Given the description of an element on the screen output the (x, y) to click on. 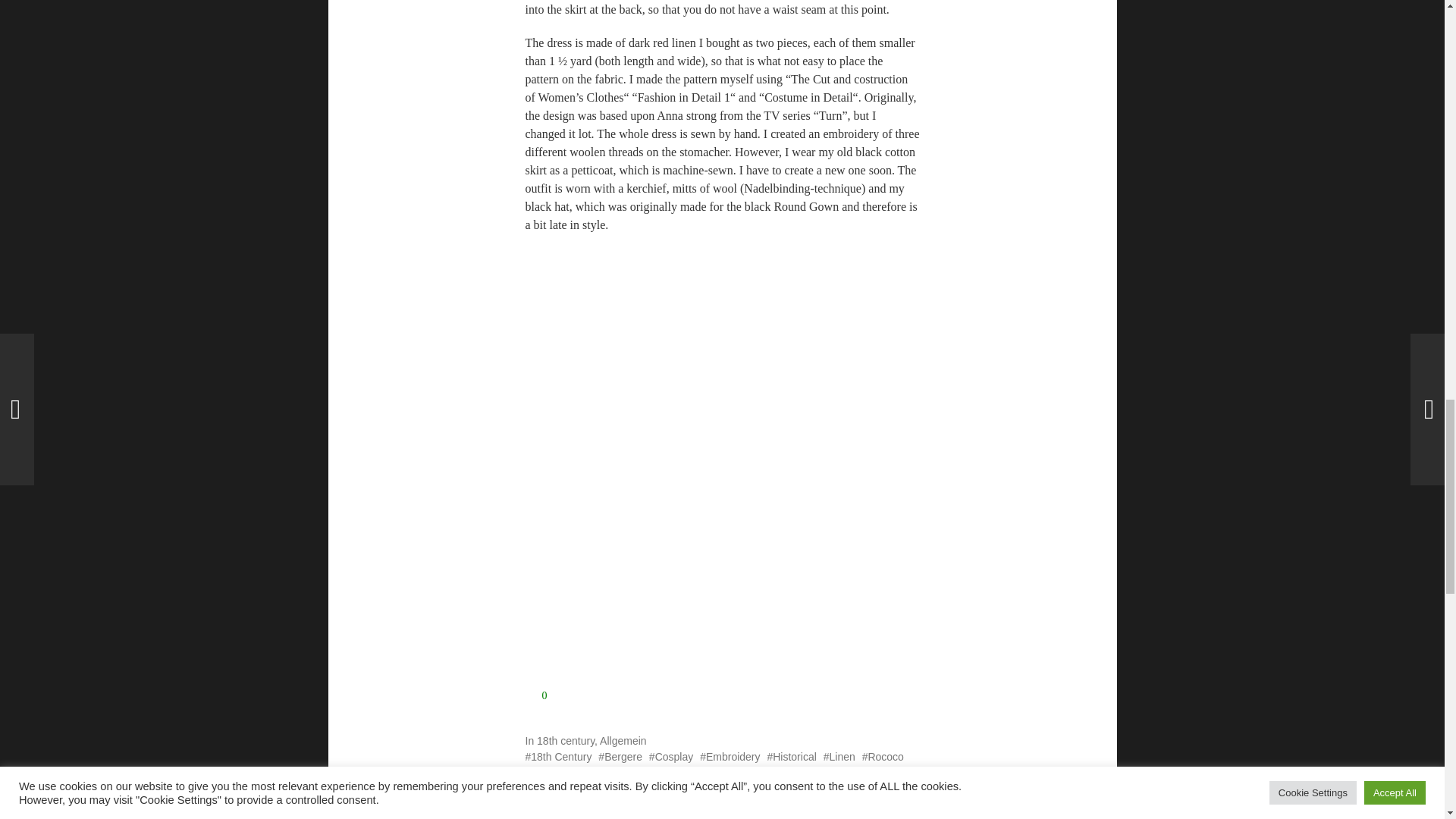
Rococo (882, 756)
Embroidery (730, 756)
Linen (840, 756)
Bergere (620, 756)
18th century (565, 740)
18th Century (557, 756)
Historical (791, 756)
Cosplay (671, 756)
Allgemein (622, 740)
